Given the description of an element on the screen output the (x, y) to click on. 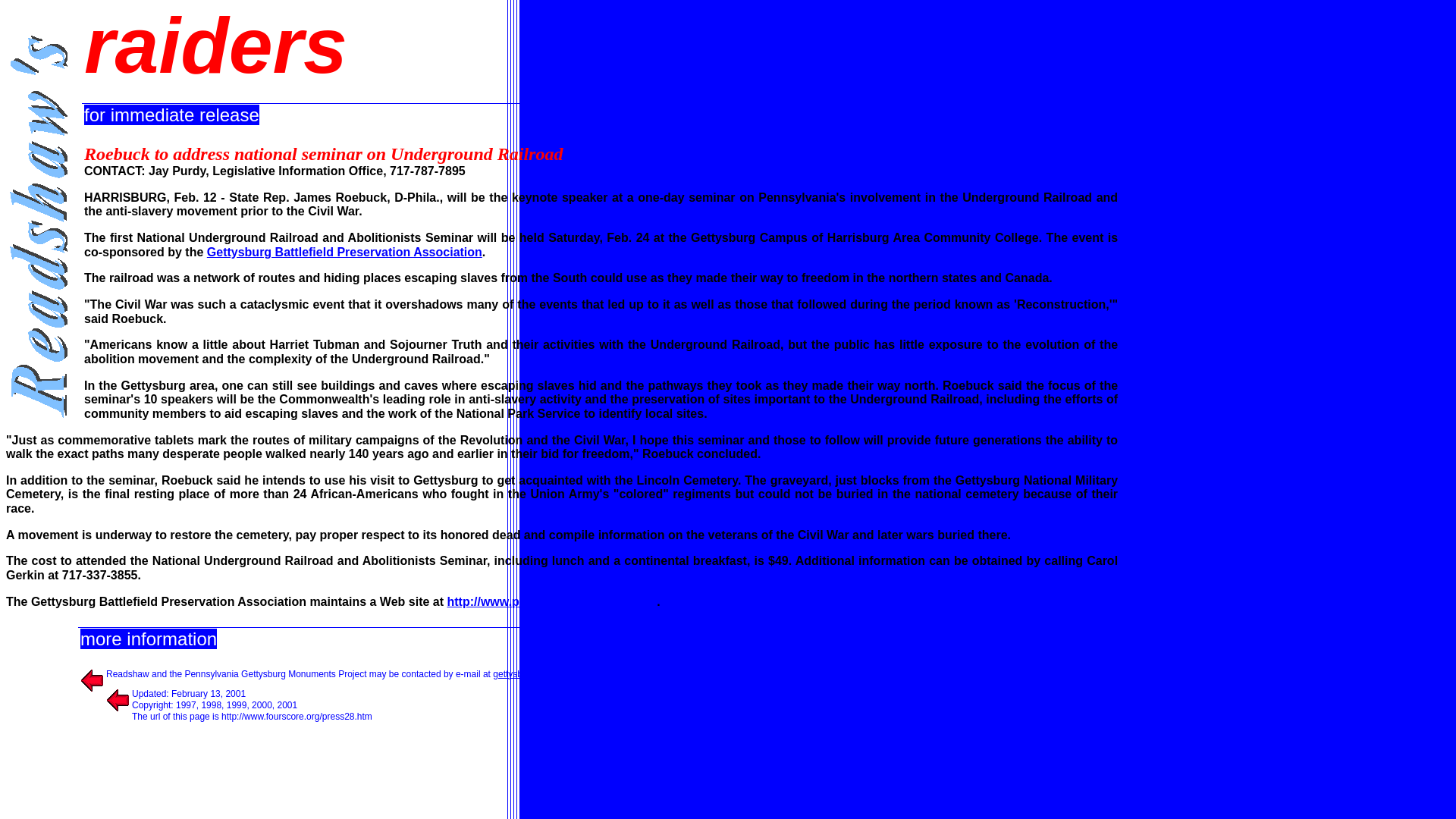
Media Page (781, 747)
Home (737, 747)
Gettysburg Battlefield Preservation Association (343, 251)
